Given the description of an element on the screen output the (x, y) to click on. 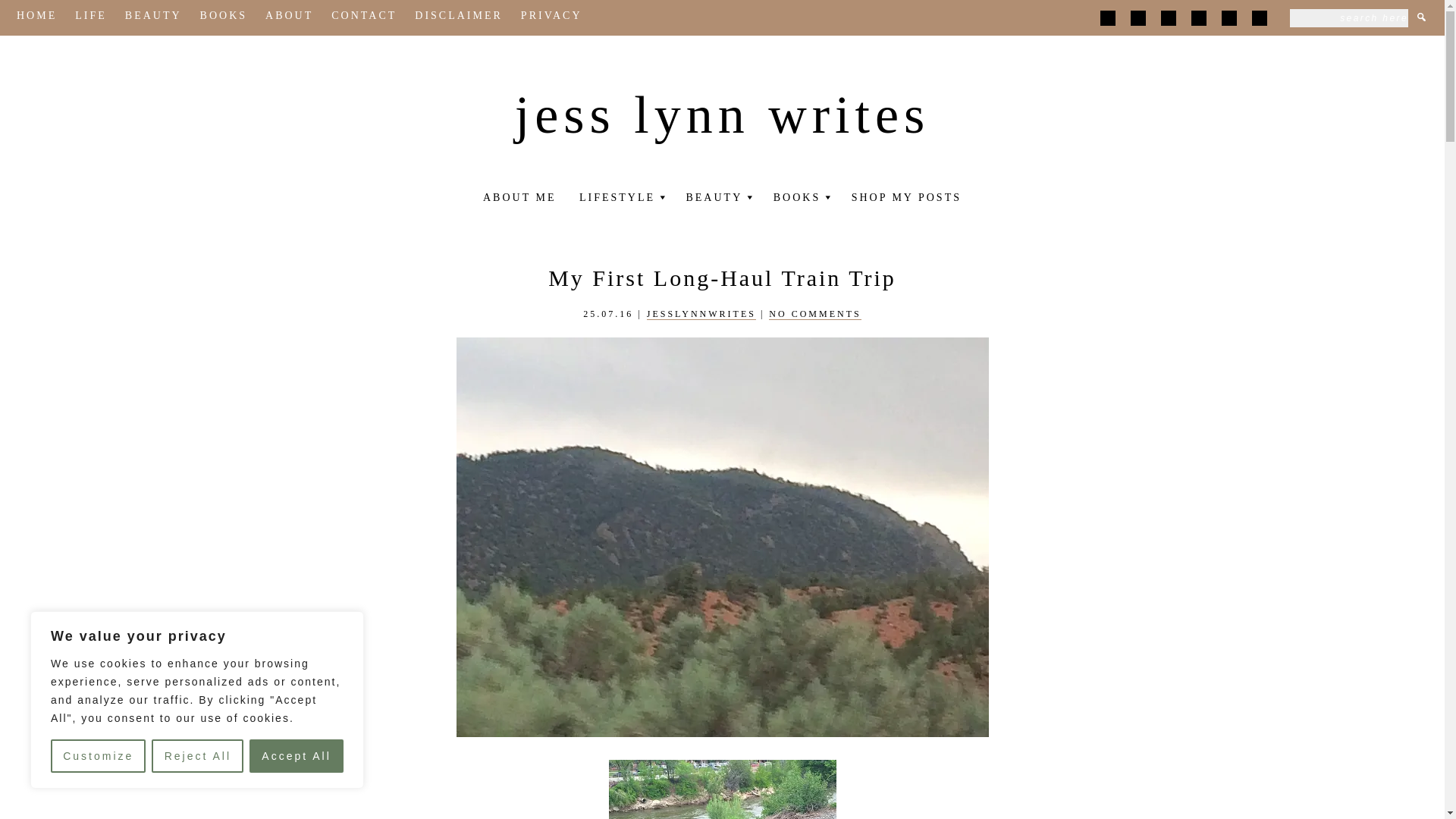
LIFESTYLE (617, 200)
Reject All (197, 756)
ABOUT (288, 17)
DISCLAIMER (458, 17)
ABOUT ME (519, 200)
Customize (97, 756)
BEAUTY (153, 17)
jess lynn writes (722, 114)
HOME (36, 17)
CONTACT (363, 17)
PRIVACY (551, 17)
LIFE (90, 17)
Accept All (295, 756)
BOOKS (223, 17)
